Given the description of an element on the screen output the (x, y) to click on. 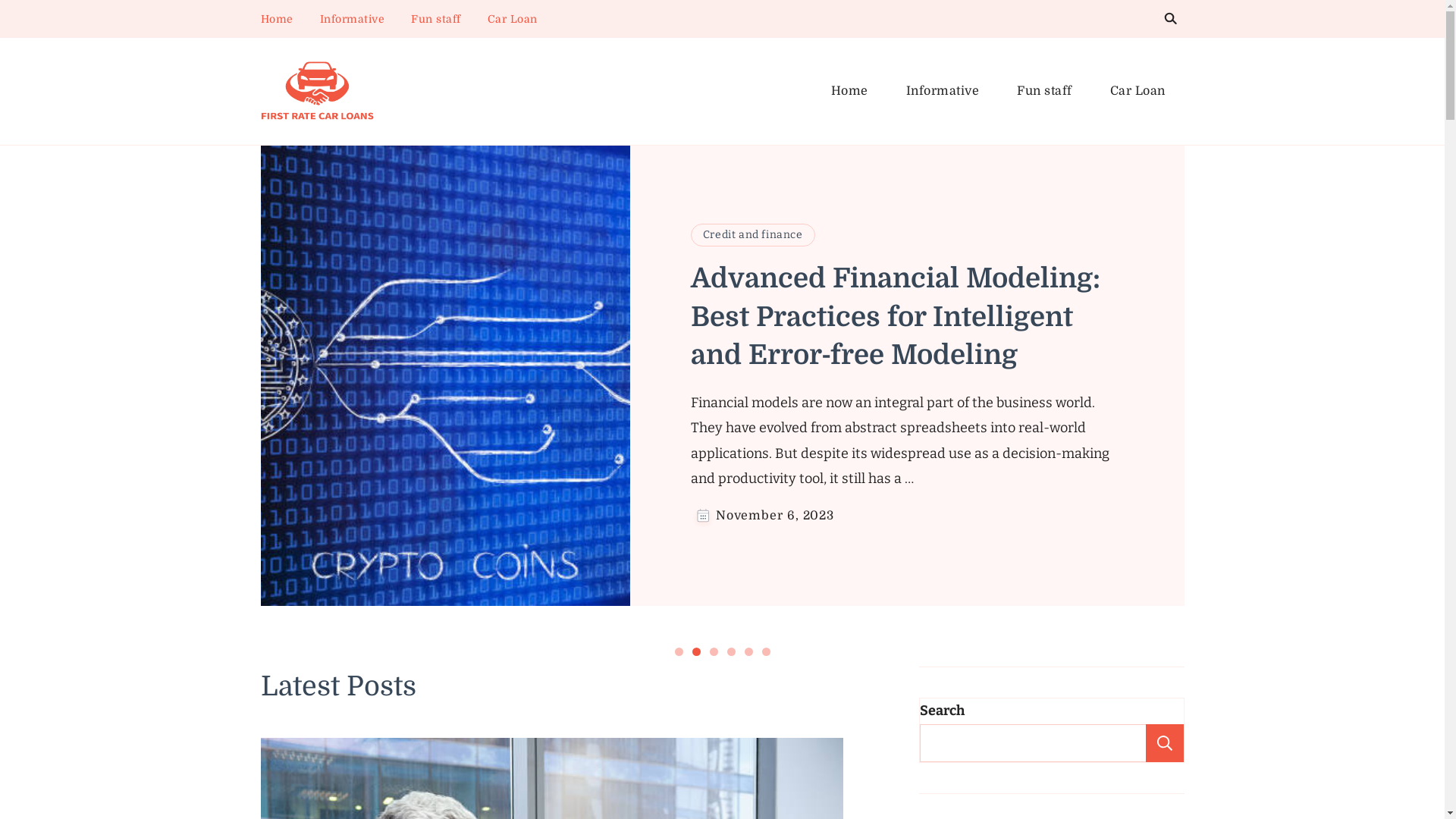
Car Loan Element type: text (1136, 91)
Informative Element type: text (942, 91)
Search Element type: text (1164, 743)
Credit and finance Element type: text (752, 234)
Fun staff Element type: text (1044, 91)
Home Element type: text (276, 18)
Fun staff Element type: text (436, 18)
Informative Element type: text (352, 18)
Home Element type: text (848, 91)
November 6, 2023 Element type: text (774, 515)
First Rate Car Loans Element type: text (370, 136)
Car Loan Element type: text (511, 18)
